Given the description of an element on the screen output the (x, y) to click on. 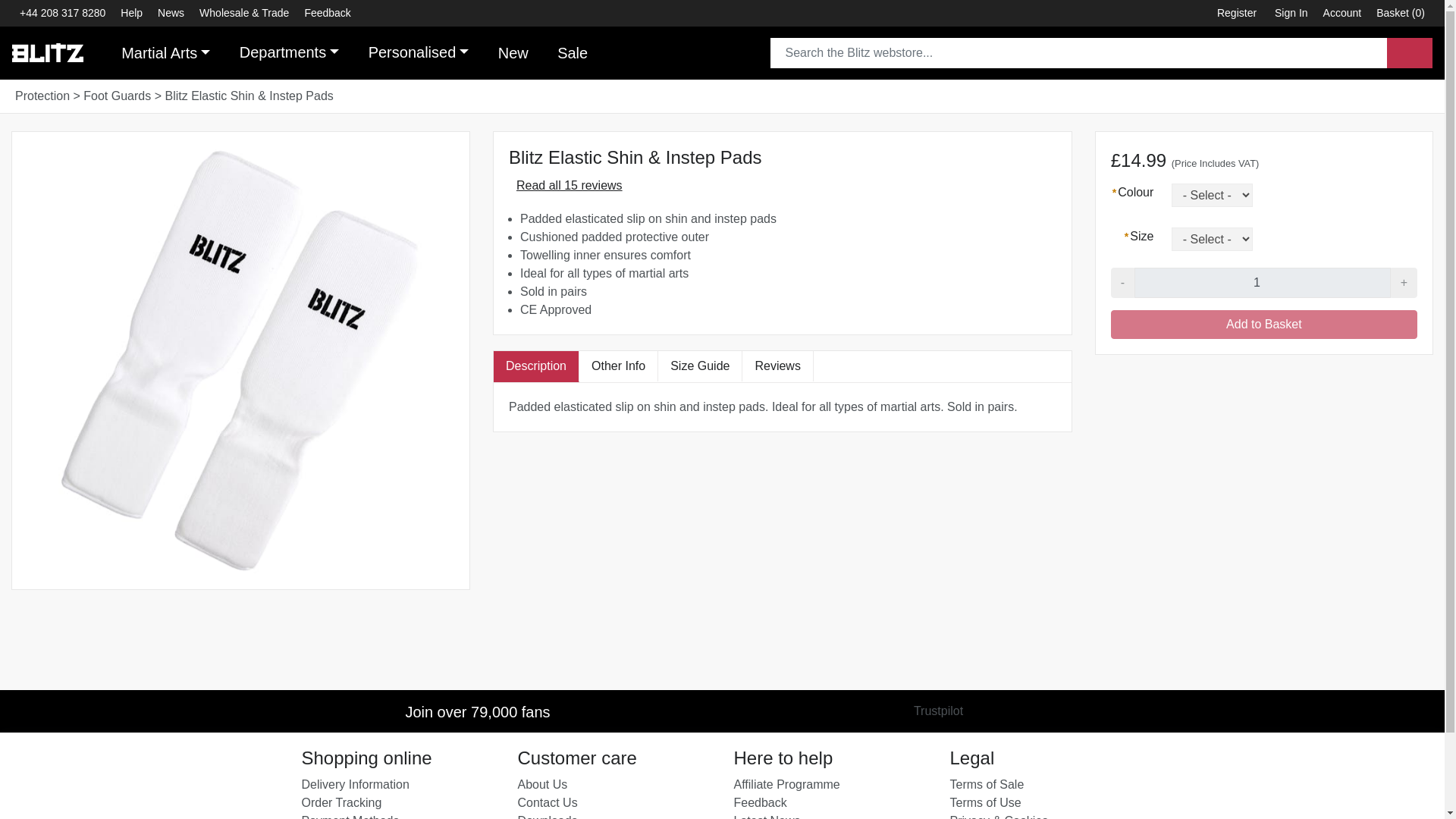
Account (1343, 13)
Feedback (327, 13)
Help (131, 13)
Register (1236, 13)
Qty (1262, 282)
Sign In (1291, 13)
News (170, 13)
Add to Basket (1263, 324)
Martial Arts (165, 52)
1 (1262, 282)
